Given the description of an element on the screen output the (x, y) to click on. 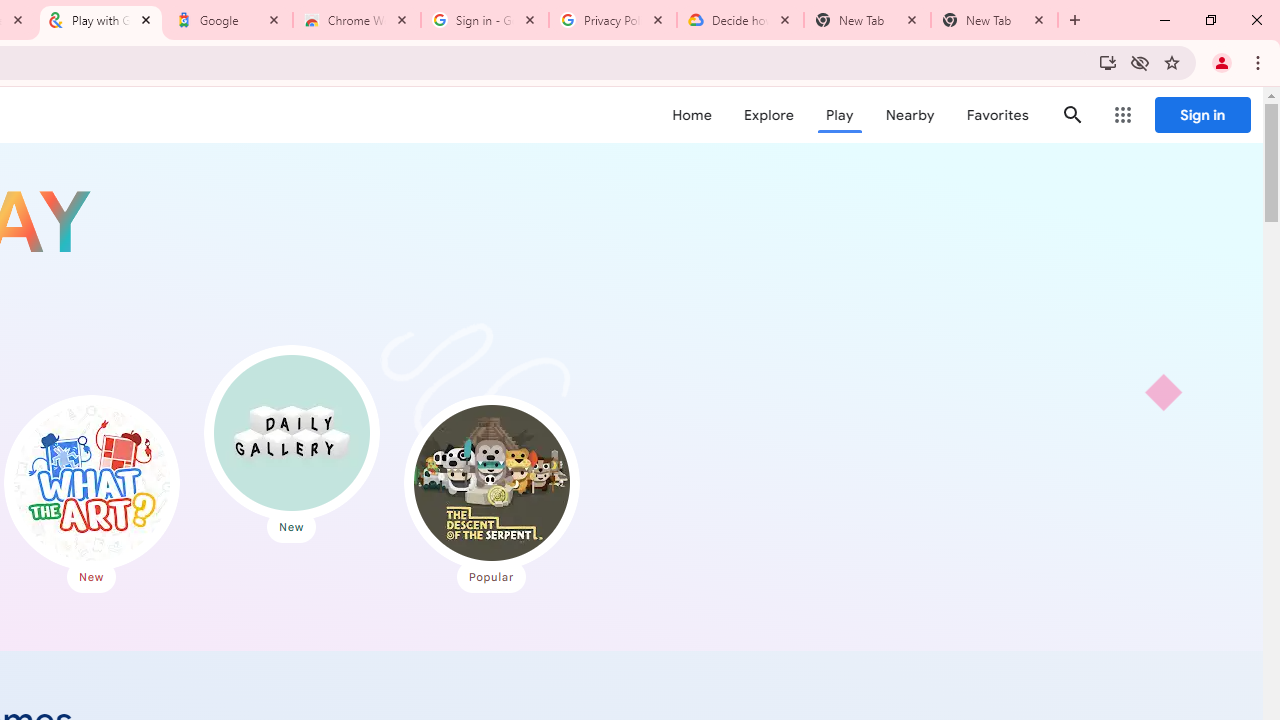
Favorites (996, 115)
Daily Gallery (291, 432)
Install Google Arts & Culture (1107, 62)
Google (229, 20)
Sign in - Google Accounts (485, 20)
